Given the description of an element on the screen output the (x, y) to click on. 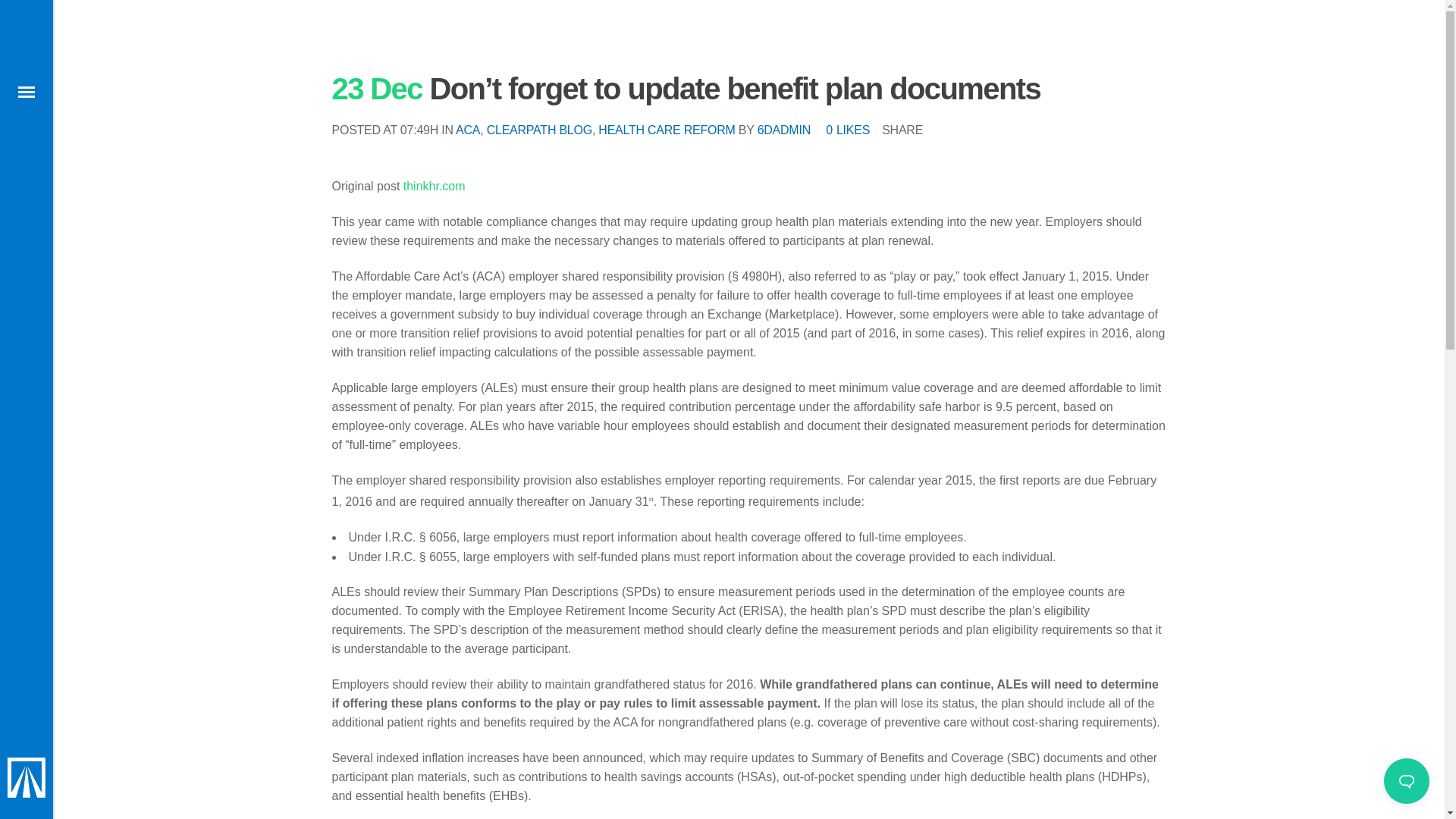
Like this (847, 130)
